Given the description of an element on the screen output the (x, y) to click on. 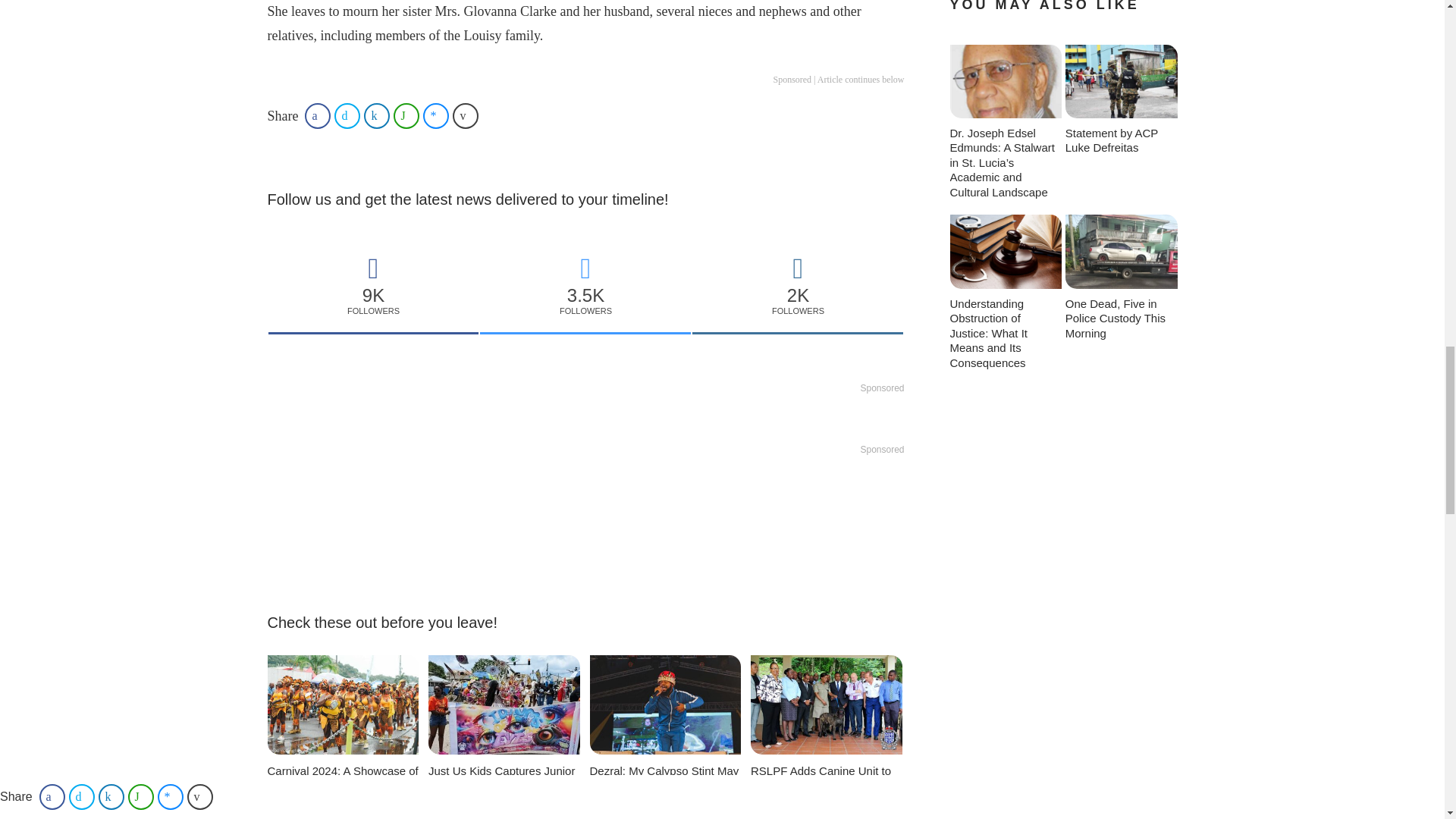
Share on Facebook (317, 115)
Share on Twitter (346, 115)
Share on WhatsApp (406, 115)
Share on LinkedIn (377, 115)
